Given the description of an element on the screen output the (x, y) to click on. 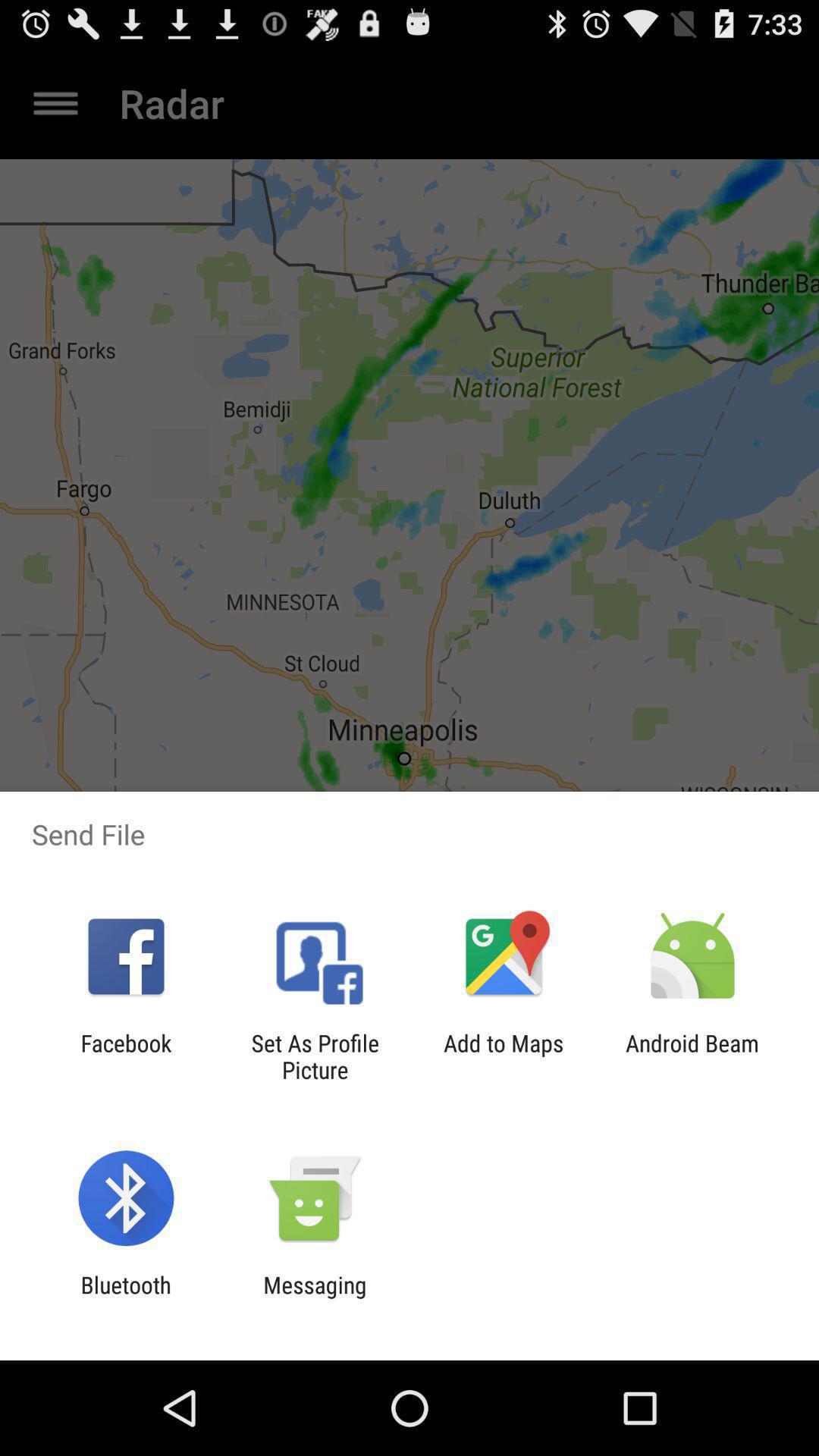
flip until bluetooth app (125, 1298)
